Given the description of an element on the screen output the (x, y) to click on. 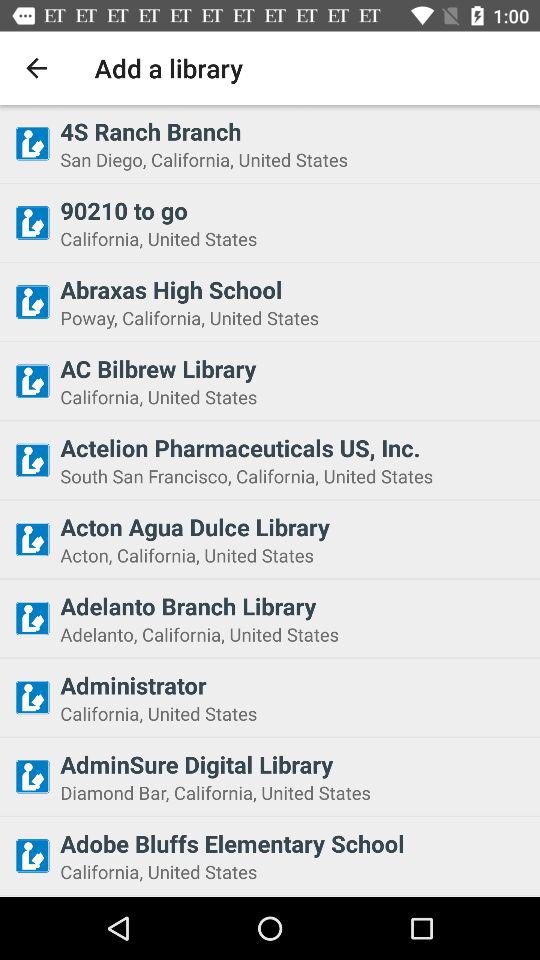
select the adminsure digital library (294, 764)
